Given the description of an element on the screen output the (x, y) to click on. 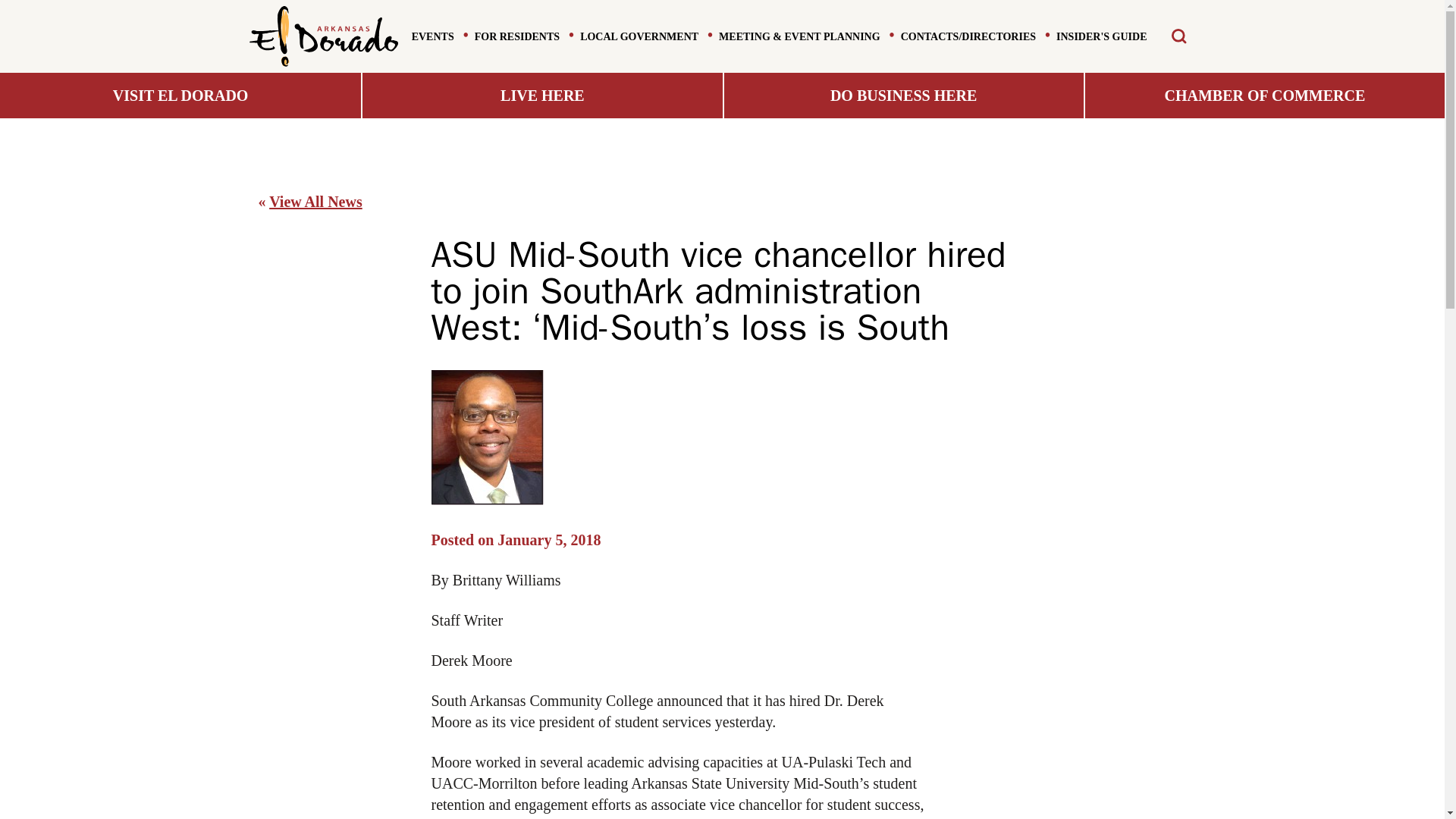
INSIDER'S GUIDE (1102, 36)
EVENTS (433, 36)
LOCAL GOVERNMENT (638, 36)
FOR RESIDENTS (516, 36)
DO BUSINESS HERE (902, 94)
VISIT EL DORADO (180, 94)
LIVE HERE (541, 94)
